Given the description of an element on the screen output the (x, y) to click on. 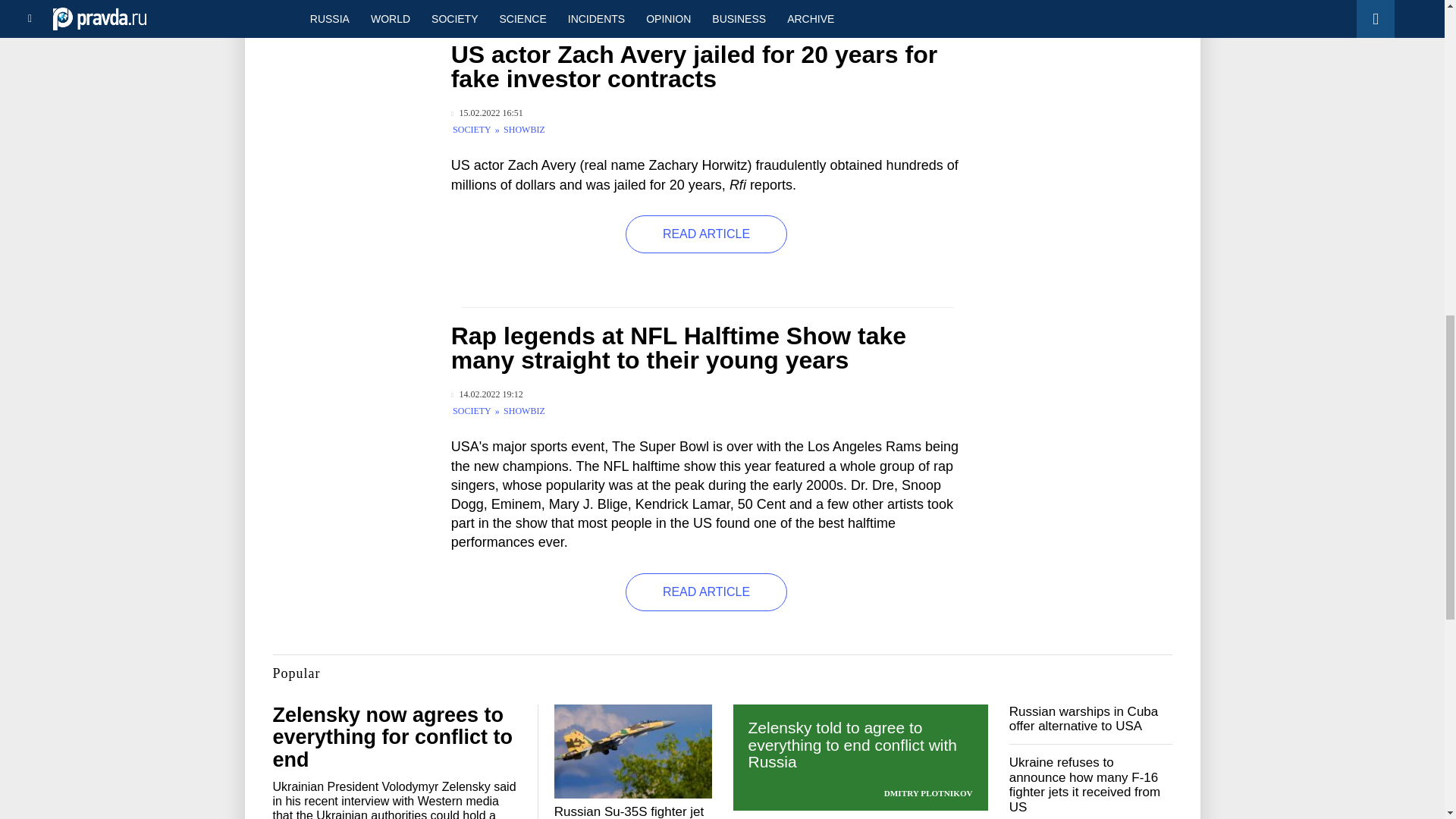
Published (486, 112)
Back to top (1418, 79)
Published (486, 394)
